Given the description of an element on the screen output the (x, y) to click on. 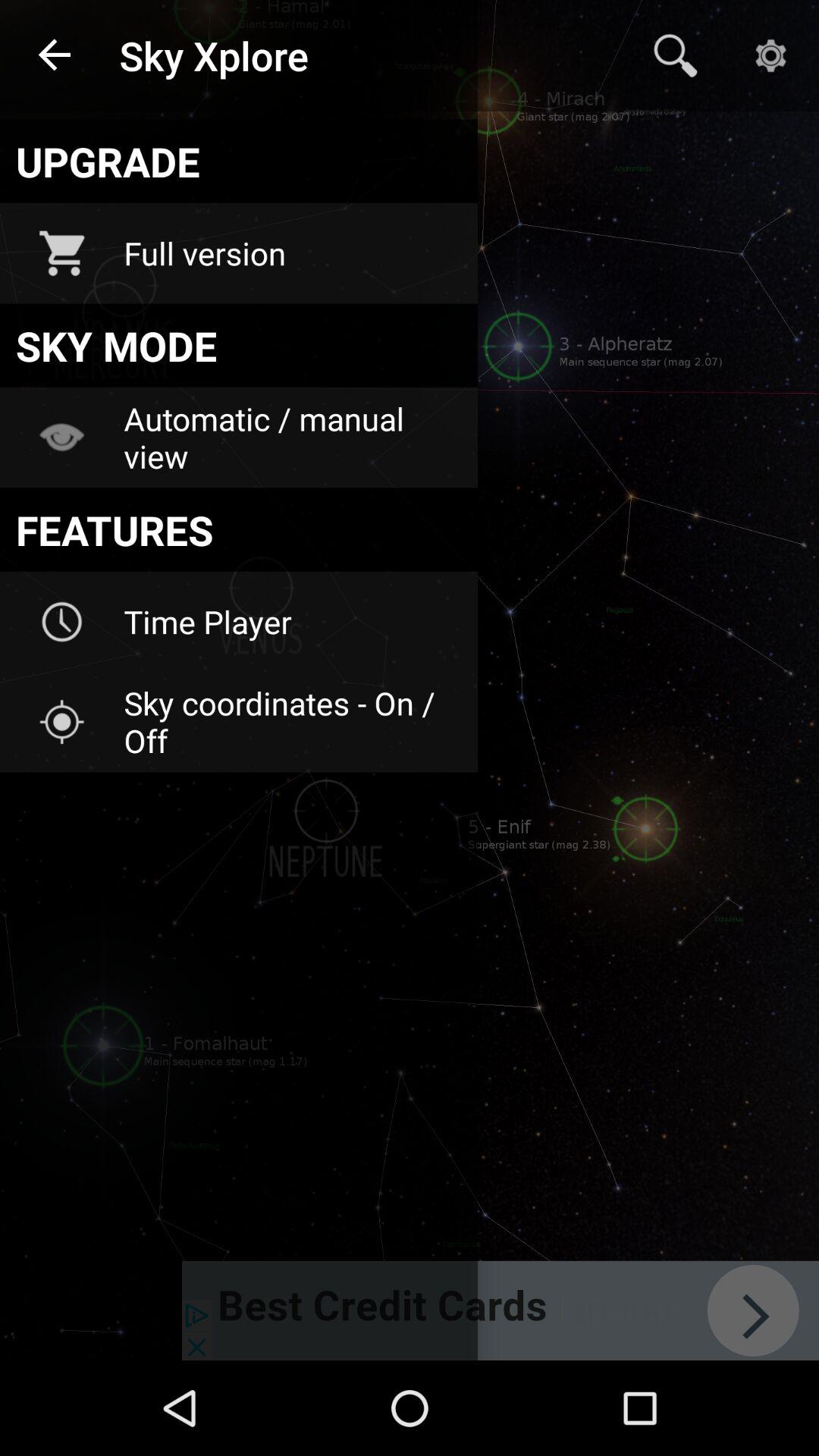
scroll until automatic / manual view item (290, 437)
